Given the description of an element on the screen output the (x, y) to click on. 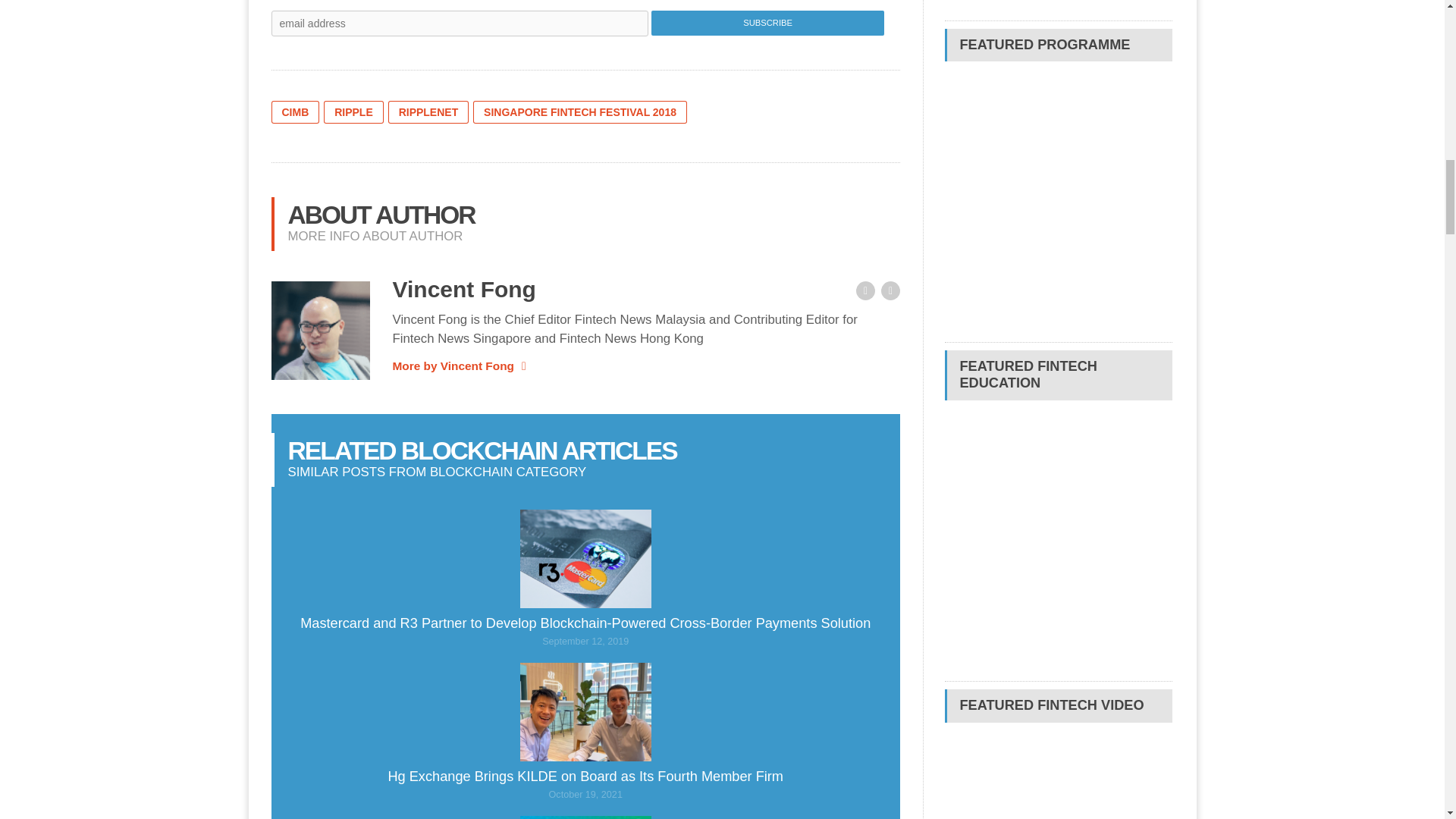
Subscribe (766, 23)
